Given the description of an element on the screen output the (x, y) to click on. 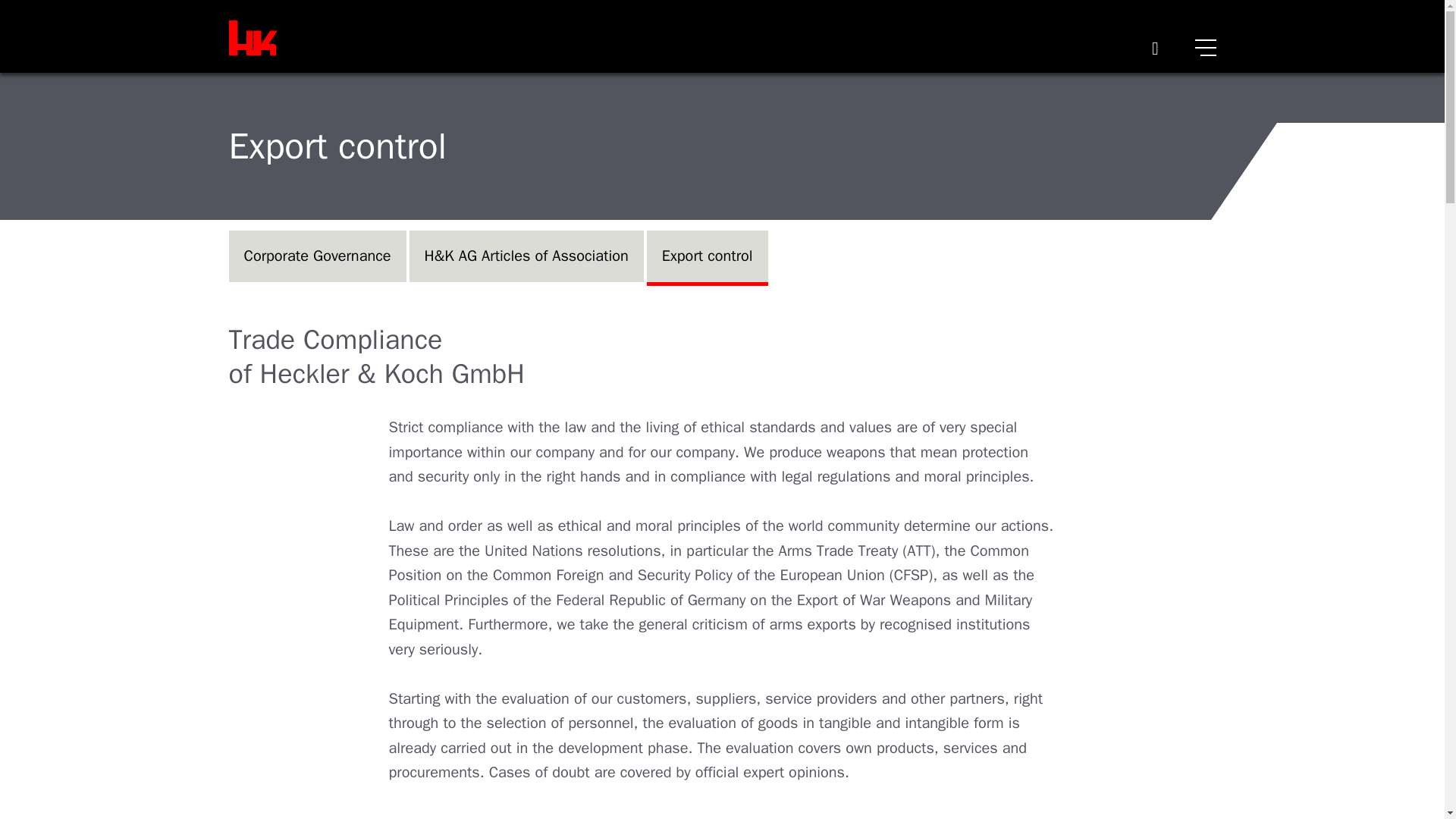
MENU (1205, 46)
Corporate Governance (317, 255)
Export control (707, 255)
